Given the description of an element on the screen output the (x, y) to click on. 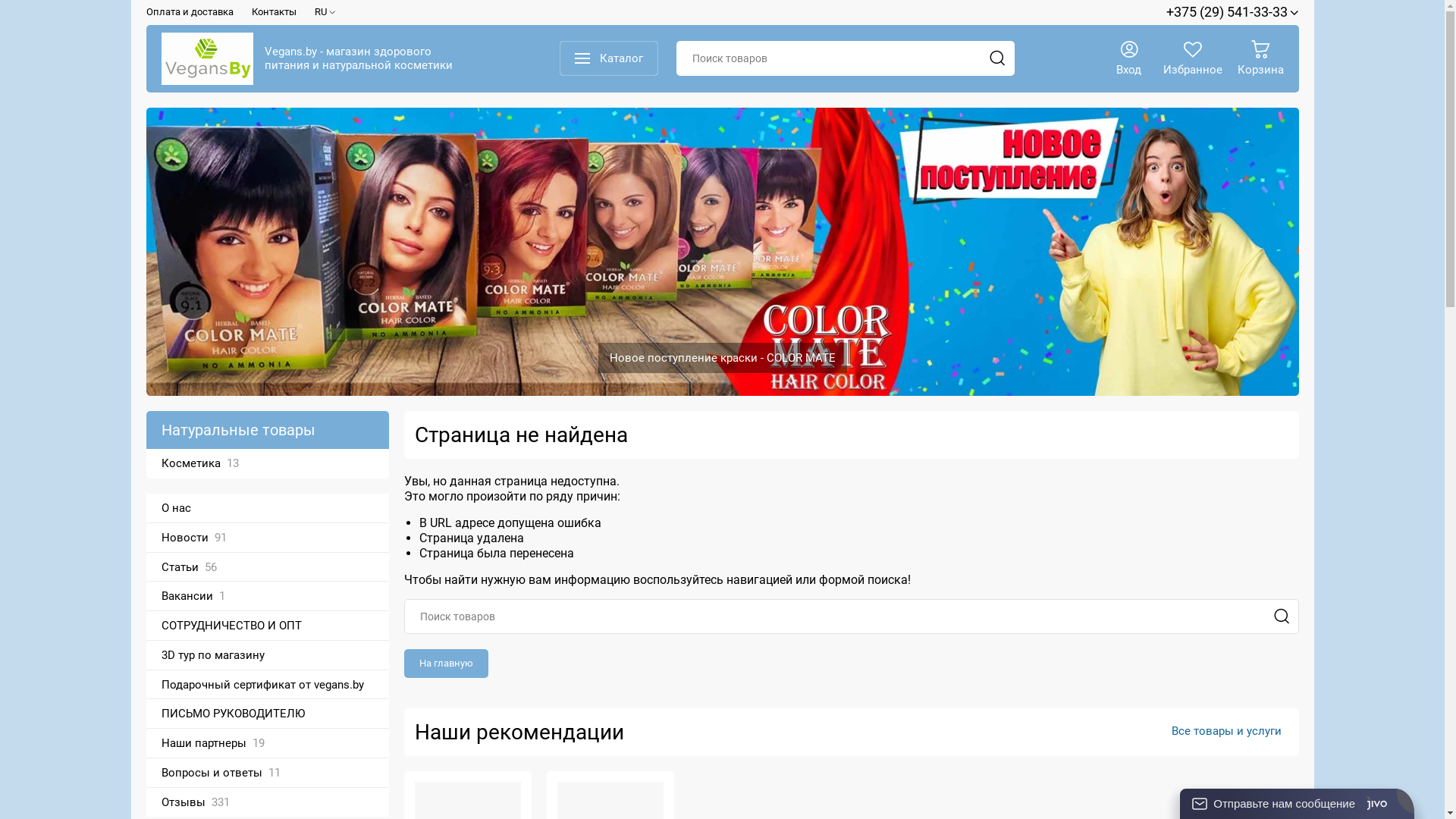
RU Element type: text (323, 12)
+375 (29) 541-33-33 Element type: text (1232, 12)
